Given the description of an element on the screen output the (x, y) to click on. 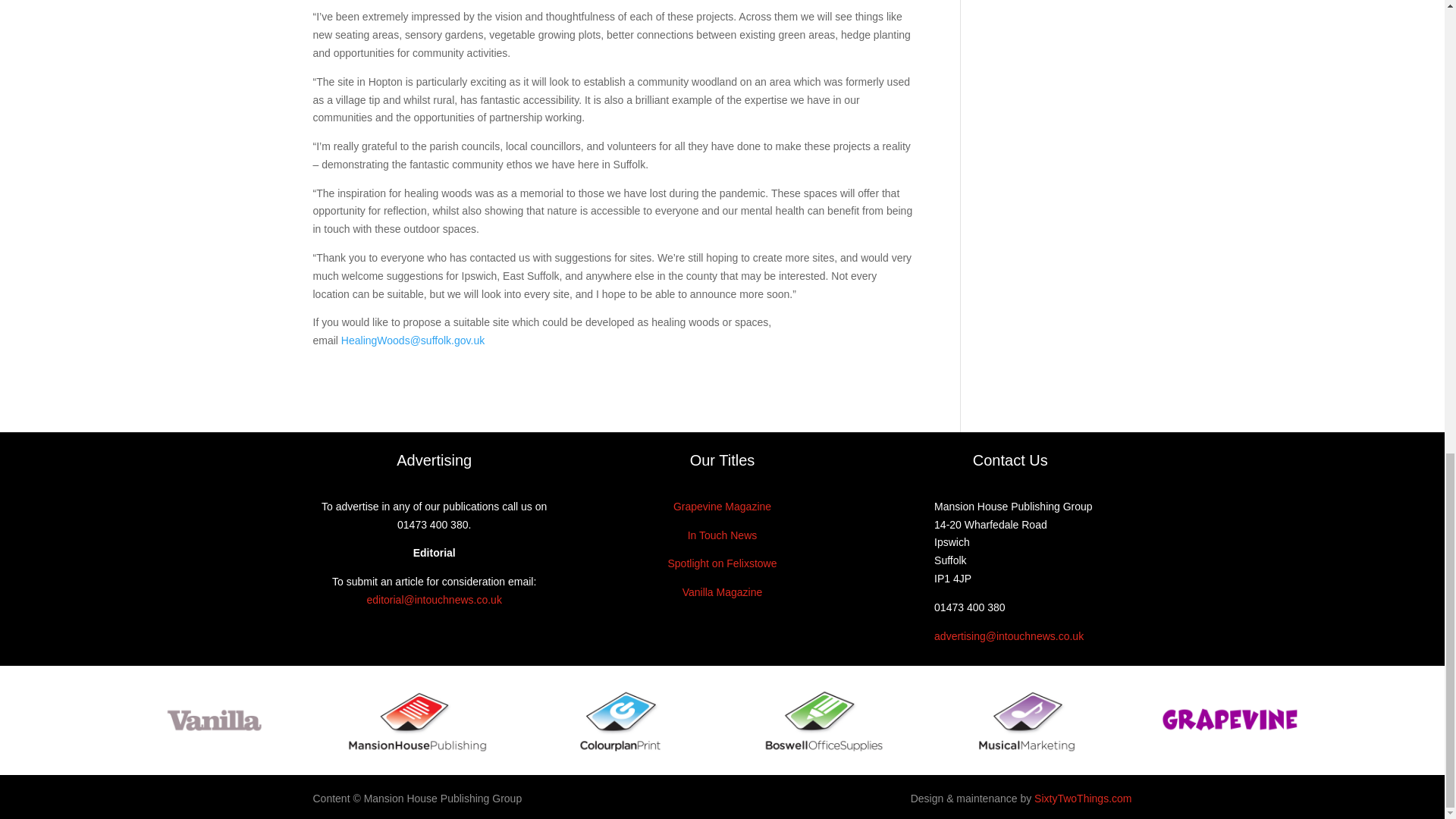
wsa-logo-boswelloffice-png-800 (823, 719)
Vanilla Magazine (722, 592)
wsa-logo-musicalmarketing-png-800 (1026, 719)
In Touch News (722, 535)
wsa-logo-vanilla-2 (213, 719)
Spotlight on Felixstowe (721, 563)
wsa-logo-mansionhouse-png-800 (416, 719)
wsa-logo-grapevine (1230, 719)
wsa-logo-colourplan-png-800 (620, 719)
Grapevine Magazine (721, 506)
